Given the description of an element on the screen output the (x, y) to click on. 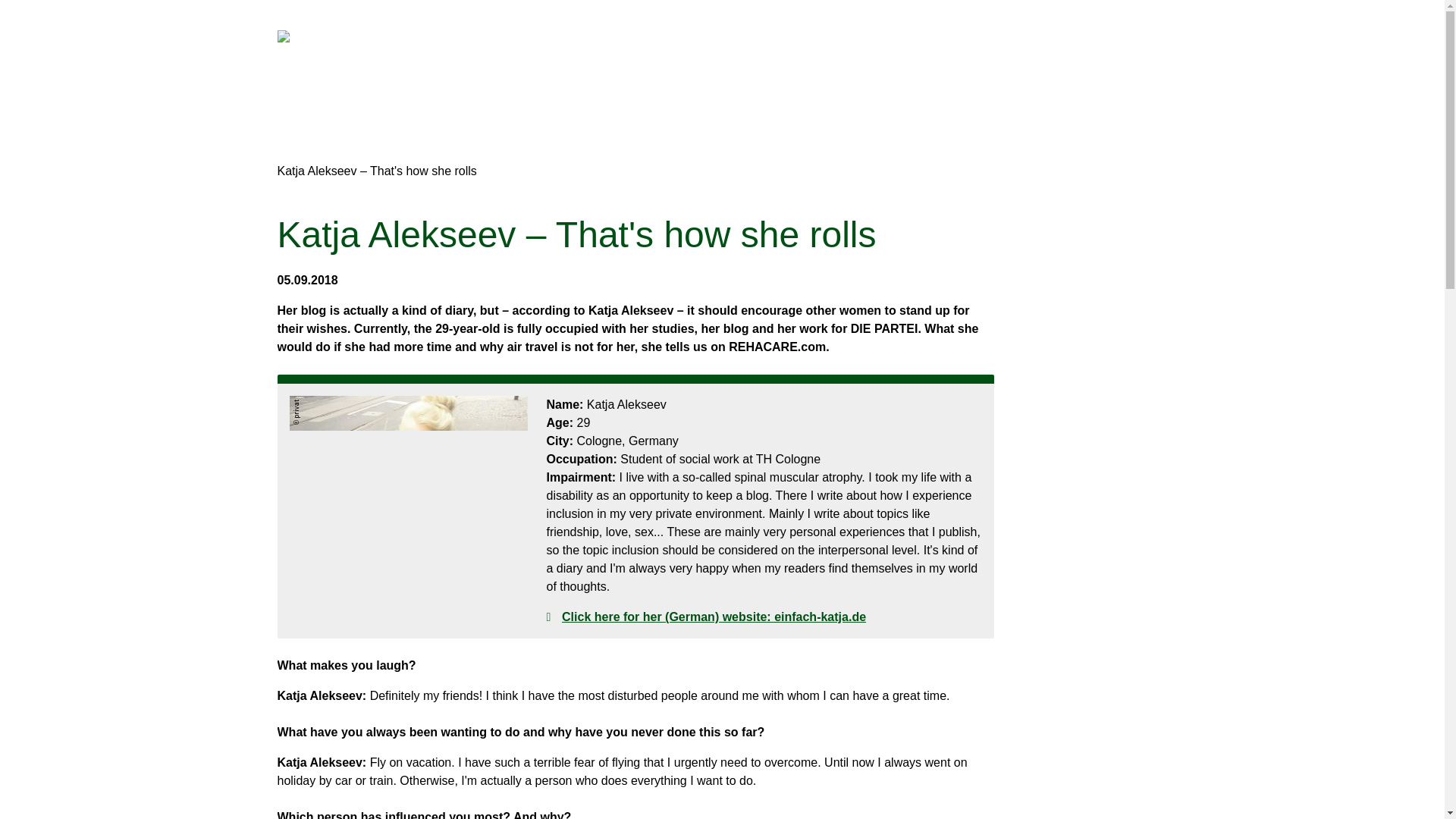
Photo: Katja Alekseev; Copyright: private (408, 501)
